Given the description of an element on the screen output the (x, y) to click on. 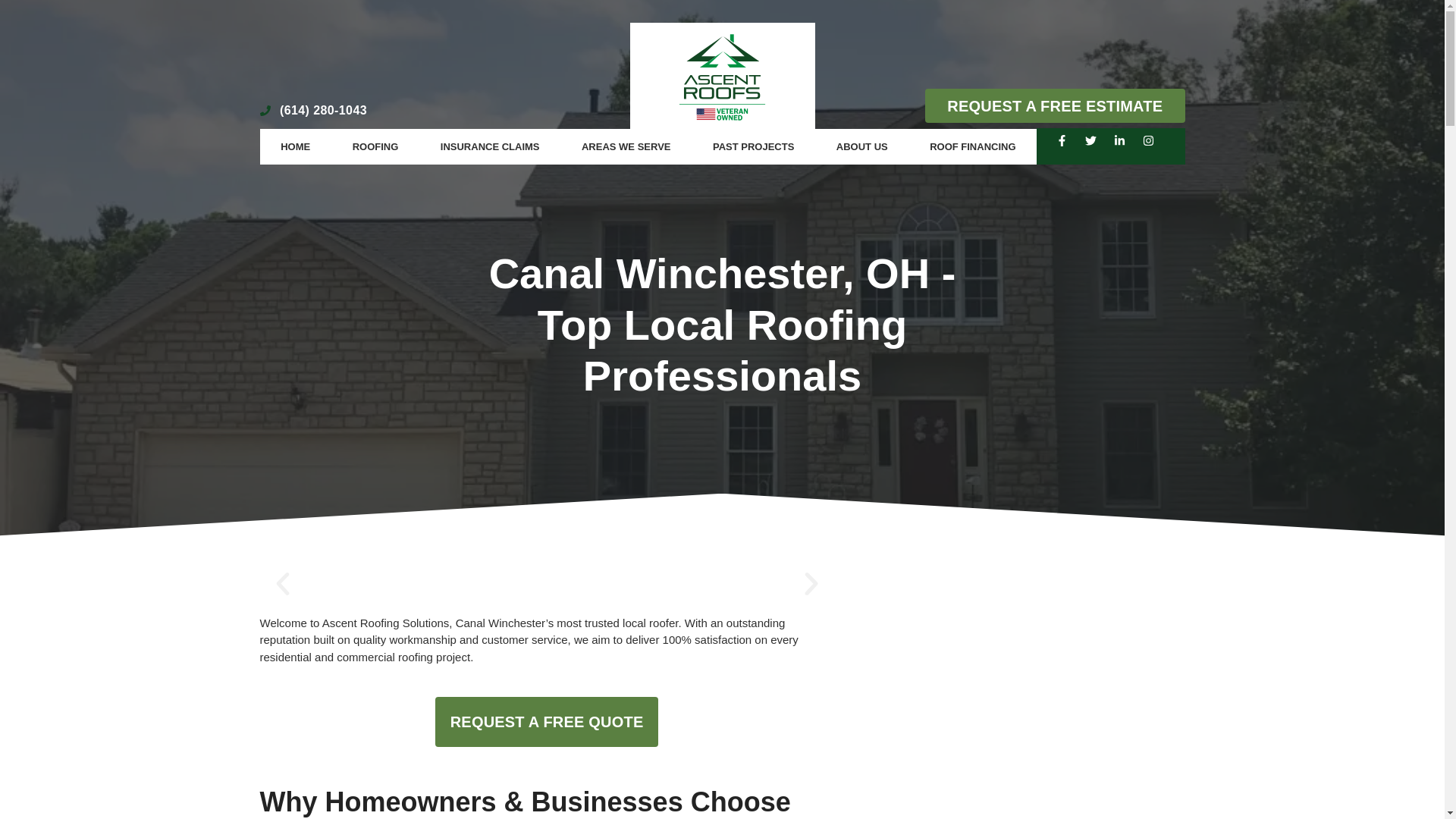
ROOF FINANCING (972, 146)
ROOFING (375, 146)
REQUEST A FREE ESTIMATE (1054, 105)
ABOUT US (861, 146)
AREAS WE SERVE (625, 146)
PAST PROJECTS (753, 146)
HOME (294, 146)
INSURANCE CLAIMS (489, 146)
